Given the description of an element on the screen output the (x, y) to click on. 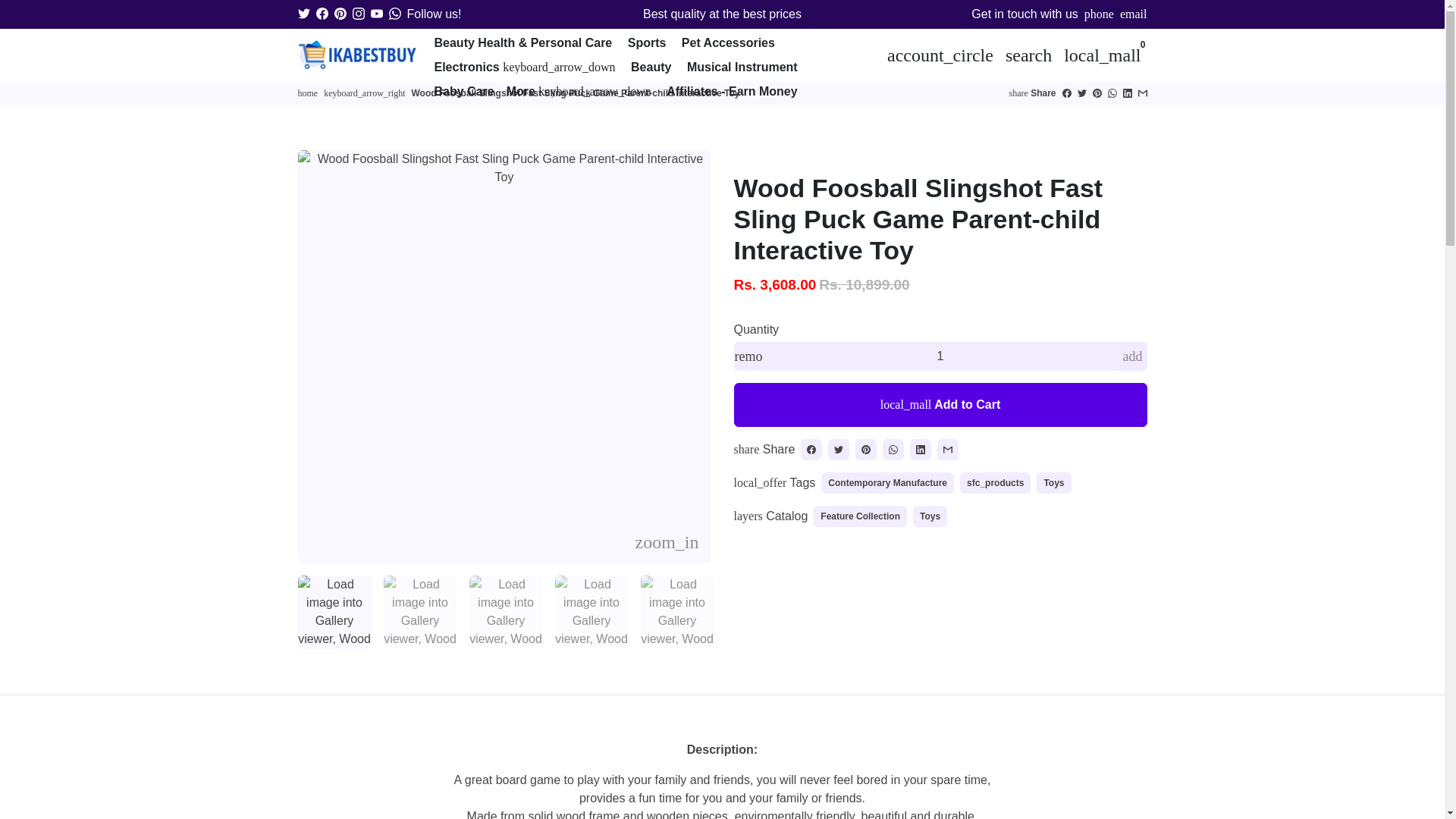
ikabestbuy on Pinterest (339, 13)
1 (940, 356)
ikabestbuy on Youtube (375, 13)
ikabestbuy on Instagram (358, 13)
ikabestbuy on Twitter (302, 13)
ikabestbuy on Facebook (321, 13)
